Given the description of an element on the screen output the (x, y) to click on. 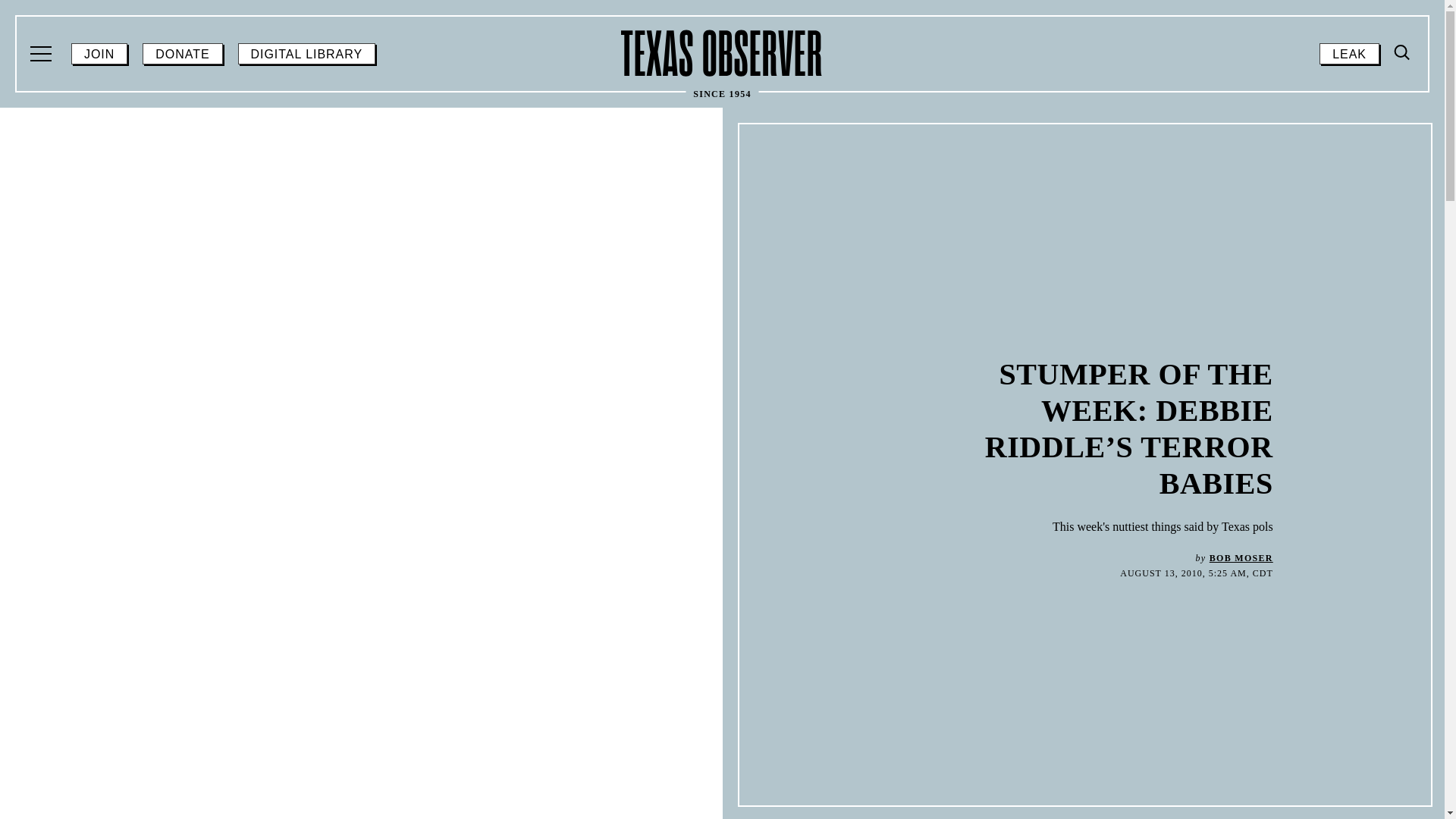
The Texas Observer (721, 53)
Toggle Menu (42, 53)
DONATE (182, 53)
LEAK (1348, 53)
SEARCH (1400, 179)
Posts by Bob Moser (1240, 557)
DIGITAL LIBRARY (306, 53)
JOIN (99, 53)
Search icon (1402, 53)
